Given the description of an element on the screen output the (x, y) to click on. 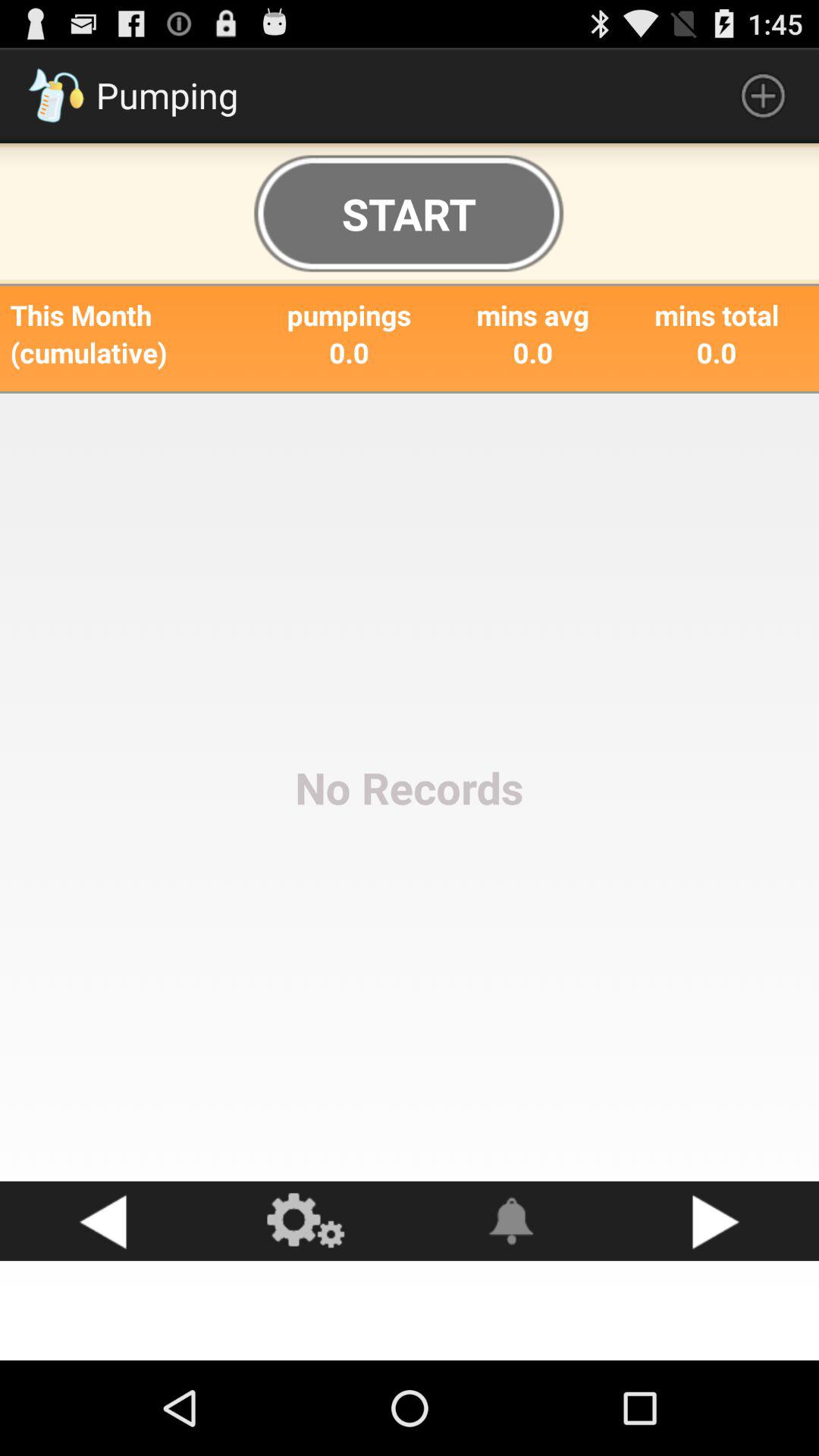
click app below no records icon (511, 1220)
